Given the description of an element on the screen output the (x, y) to click on. 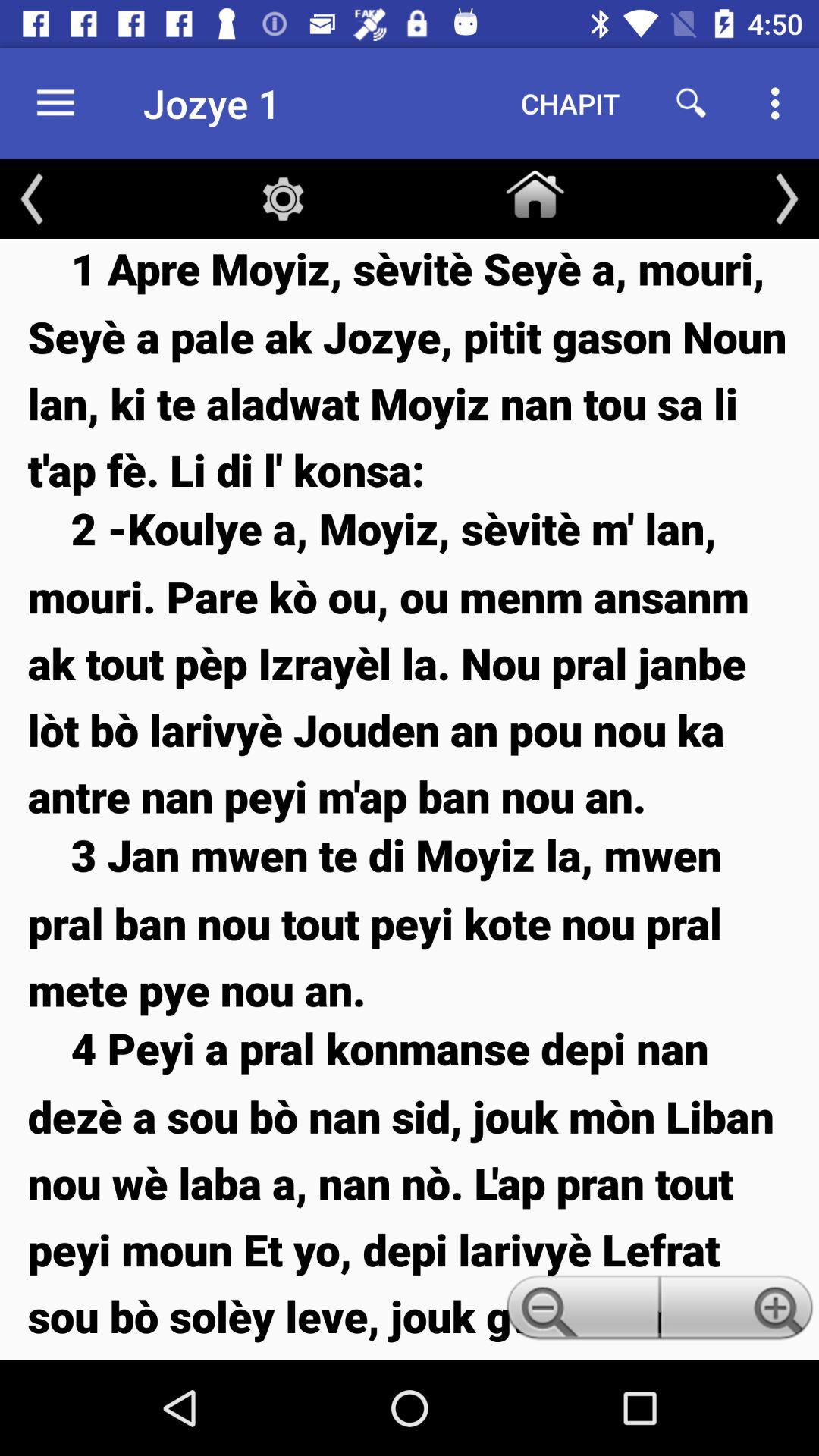
press 1 apre moyiz item (409, 368)
